Given the description of an element on the screen output the (x, y) to click on. 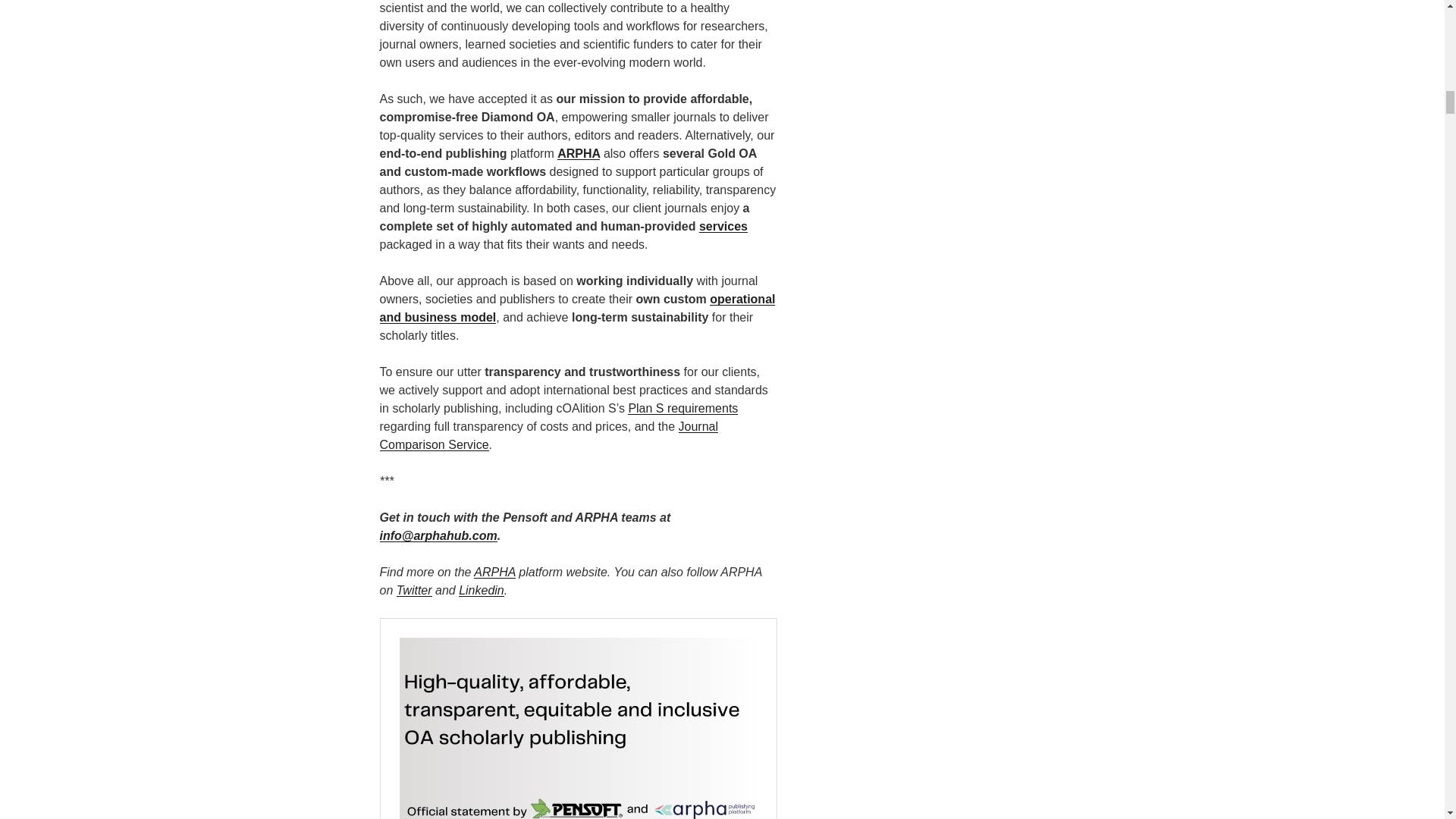
Plan S requirements (682, 408)
operational and business model (576, 307)
Linkedin (480, 590)
services (723, 226)
ARPHA (494, 571)
Journal Comparison Service (547, 435)
Twitter (414, 590)
ARPHA (578, 153)
